Given the description of an element on the screen output the (x, y) to click on. 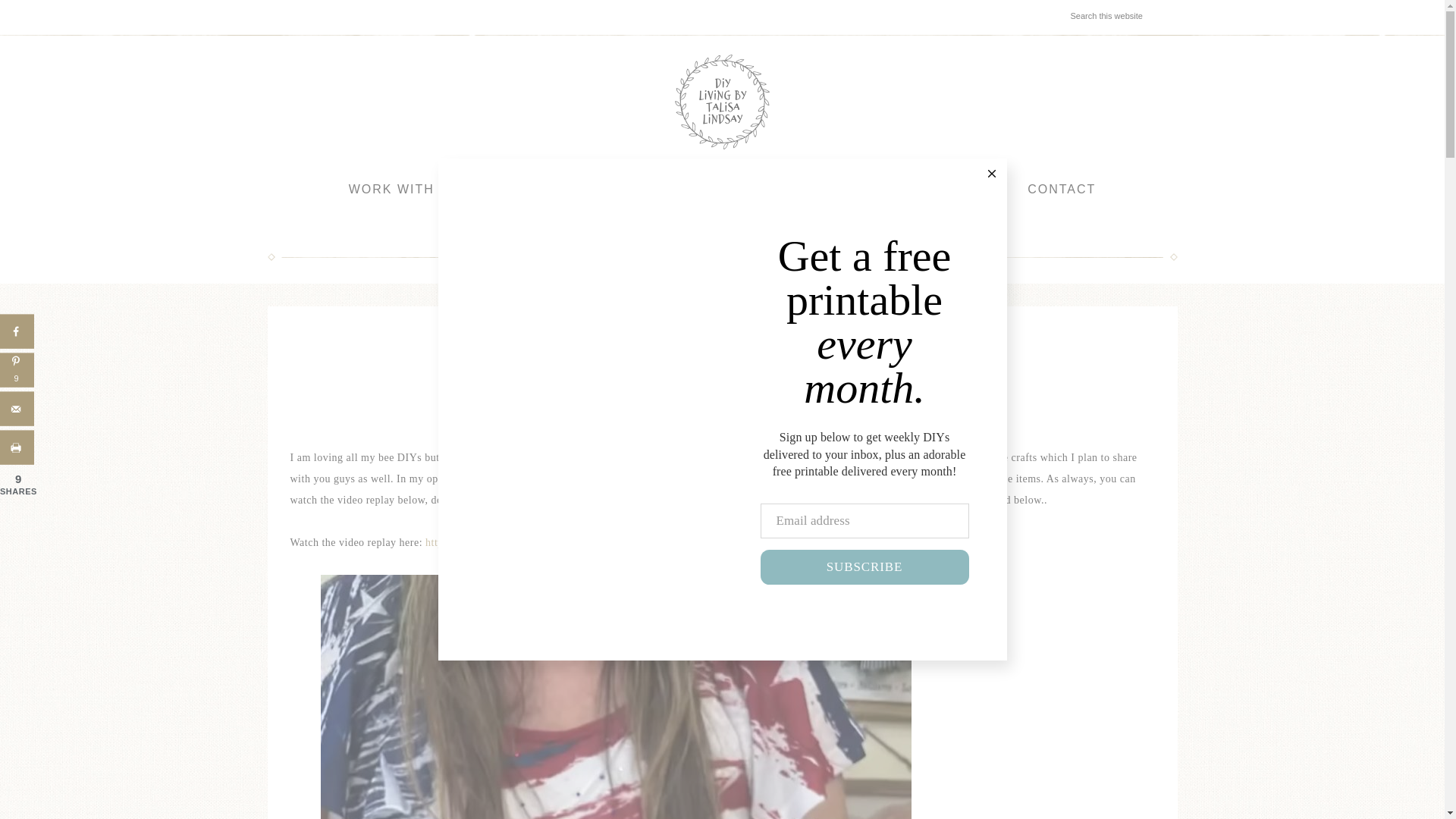
SPRING (772, 424)
9 (16, 369)
DIY TUTORIALS (550, 189)
CRAFTS (622, 424)
FREE MONTHLY PRINTABLE (815, 189)
Send over email (16, 408)
Print this webpage (16, 447)
HOME DECOR (715, 424)
Save to Pinterest (16, 369)
Share on Facebook (16, 331)
SUBSCRIBE (864, 566)
SHOP (661, 189)
DIY LIVING BY TALISA LINDSAY (722, 101)
LINKS (970, 189)
SUMMER (820, 424)
